Given the description of an element on the screen output the (x, y) to click on. 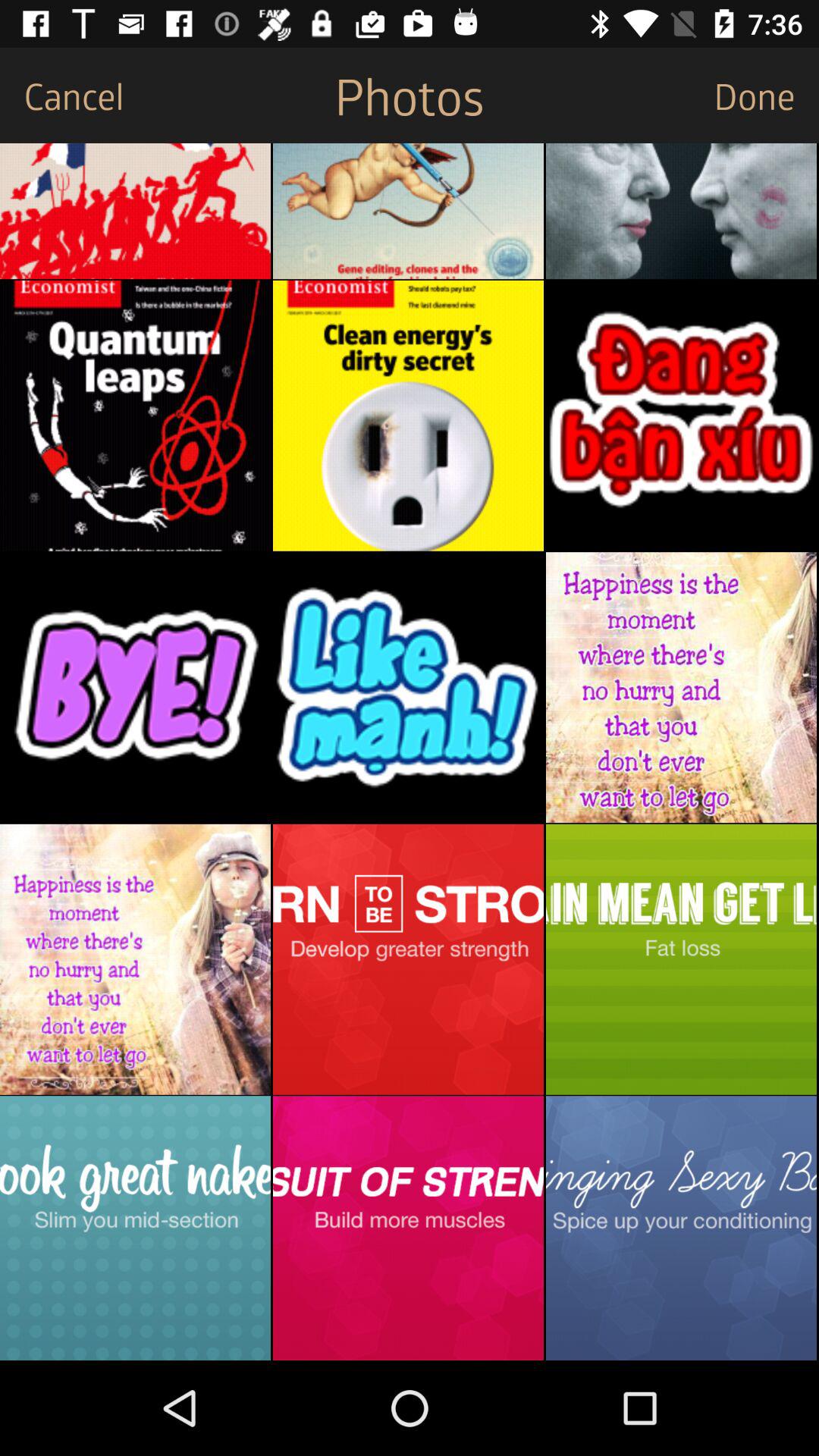
select image (408, 687)
